Given the description of an element on the screen output the (x, y) to click on. 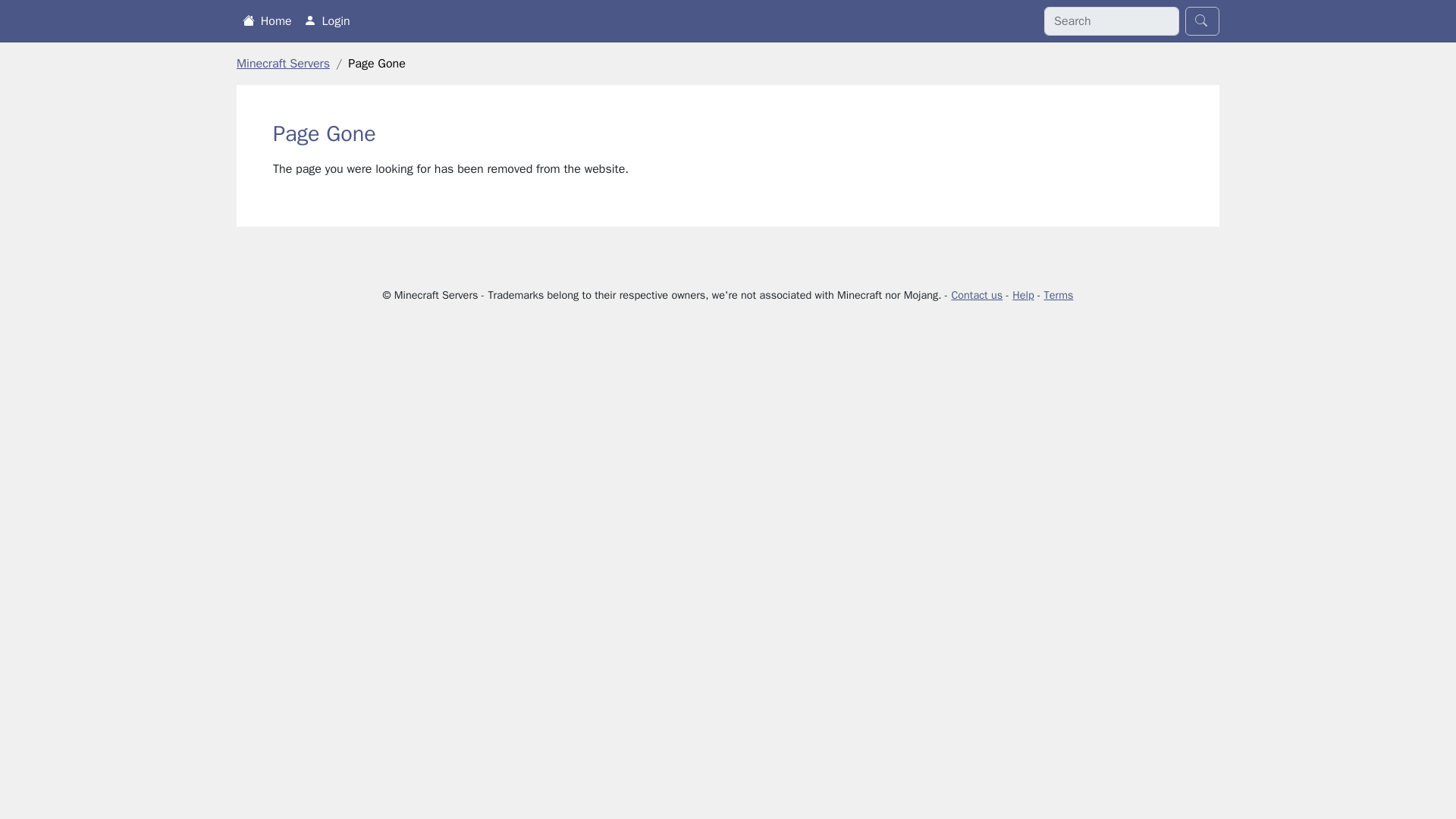
Home (266, 20)
Search (1202, 21)
Login (327, 20)
Terms (1058, 295)
Minecraft Servers (282, 63)
Help (1022, 295)
Contact us (976, 295)
